Given the description of an element on the screen output the (x, y) to click on. 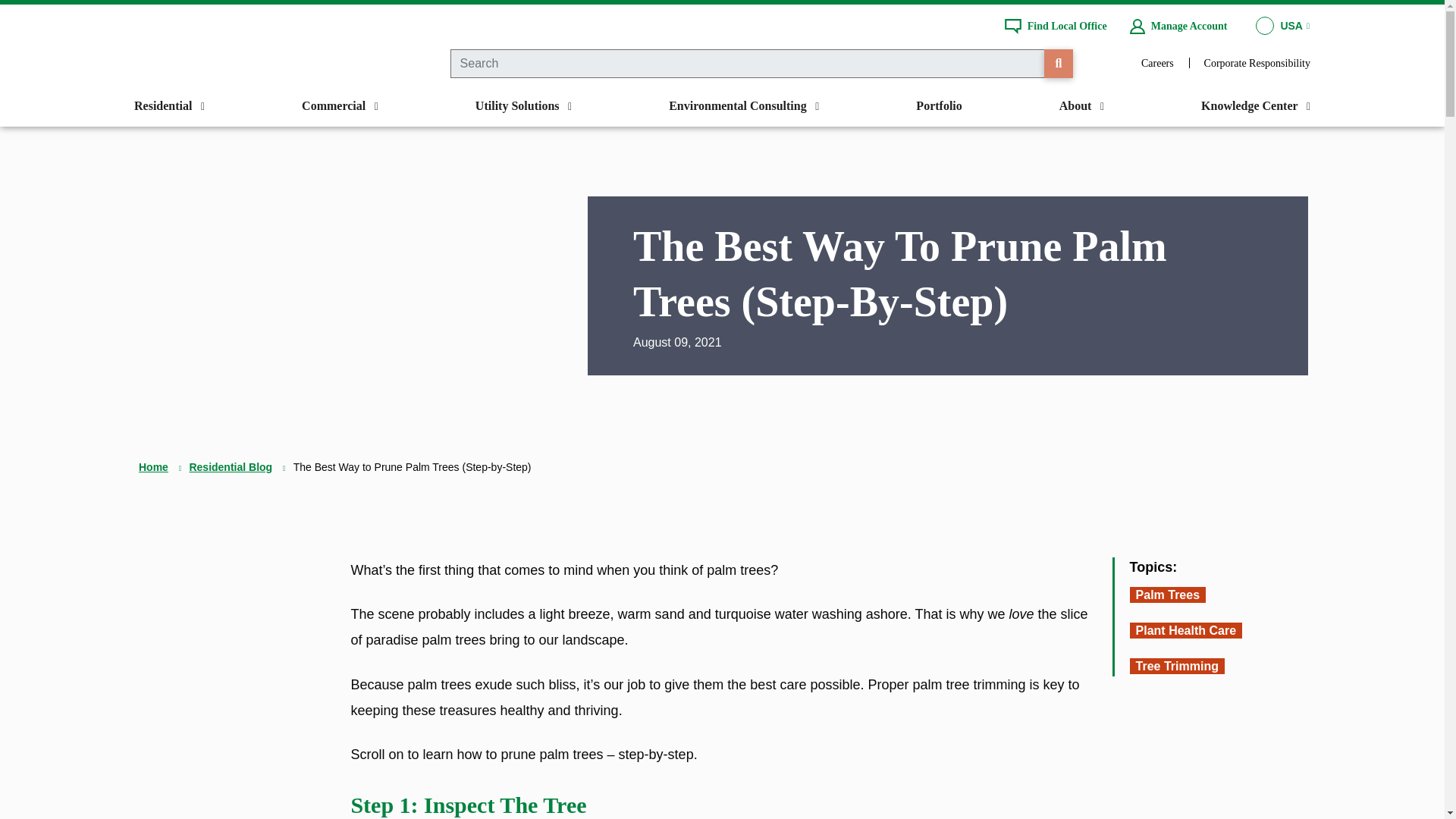
Manage Account (1178, 26)
Careers (1157, 62)
Search (1058, 63)
Find Local Office (1055, 26)
SEARCH (1058, 63)
USA (1282, 25)
Commercial (339, 105)
Corporate Responsibility (1257, 62)
Residential (168, 105)
